Given the description of an element on the screen output the (x, y) to click on. 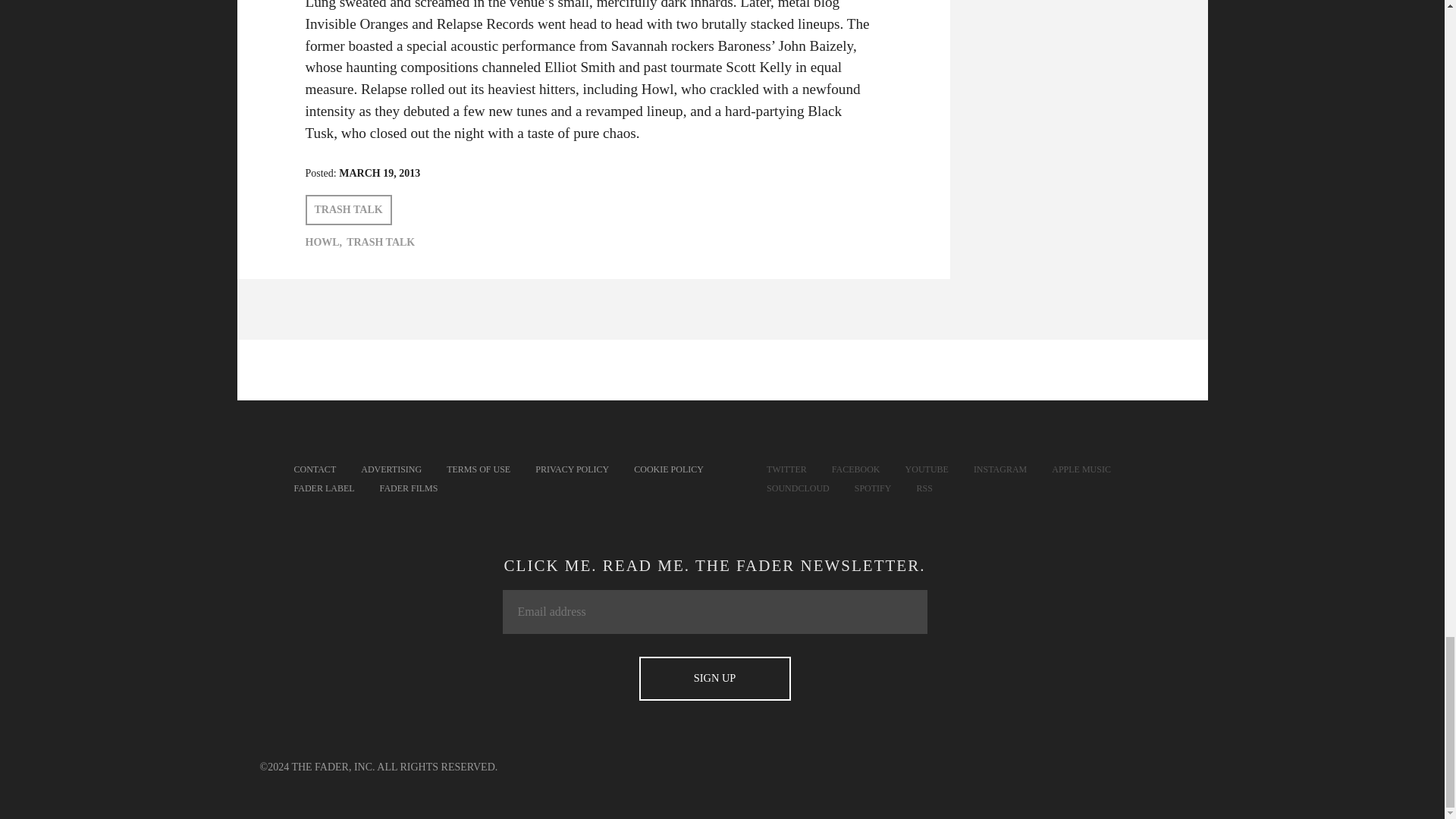
Sign Up (714, 678)
